Given the description of an element on the screen output the (x, y) to click on. 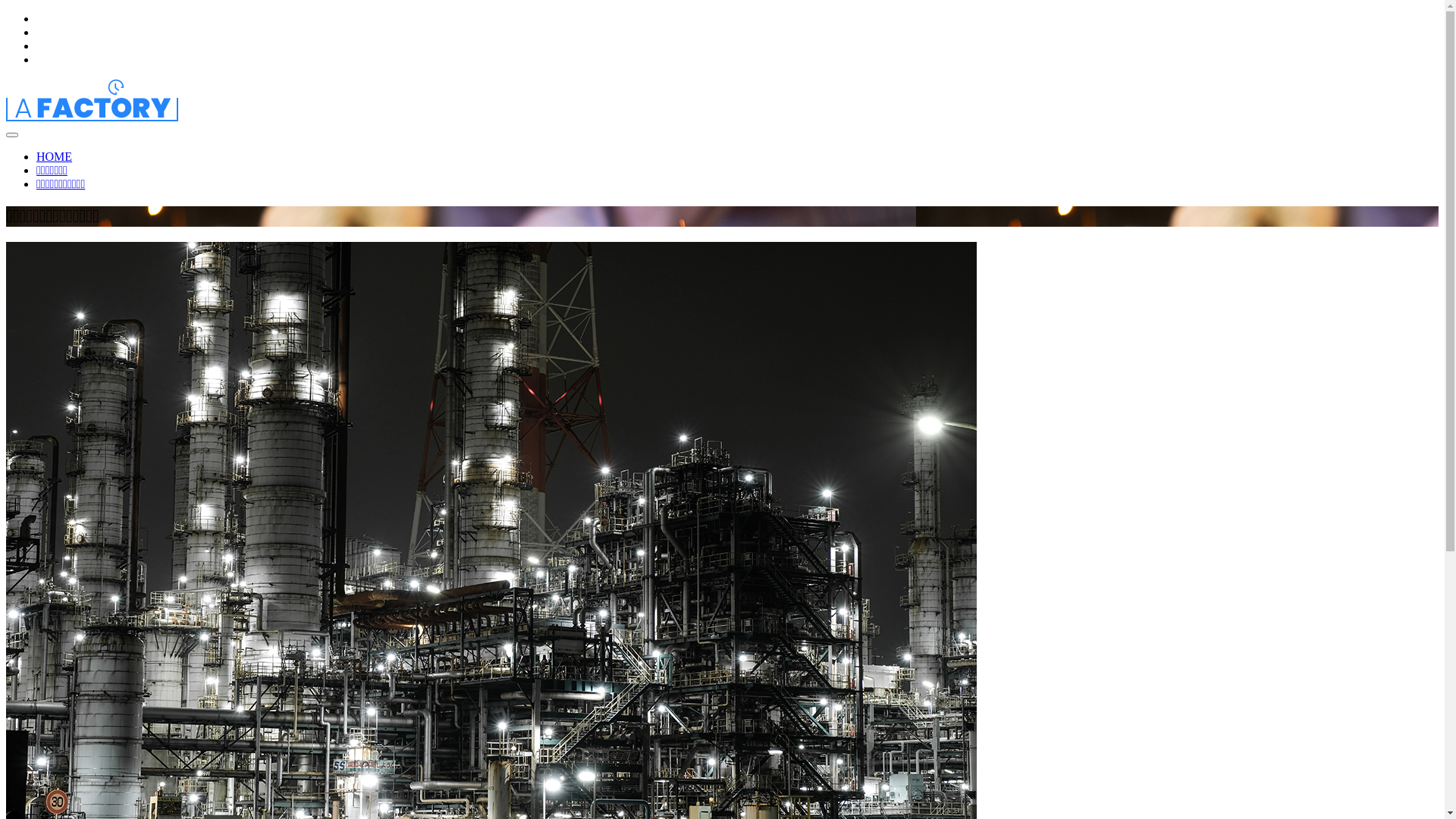
HOME Element type: text (54, 156)
